Given the description of an element on the screen output the (x, y) to click on. 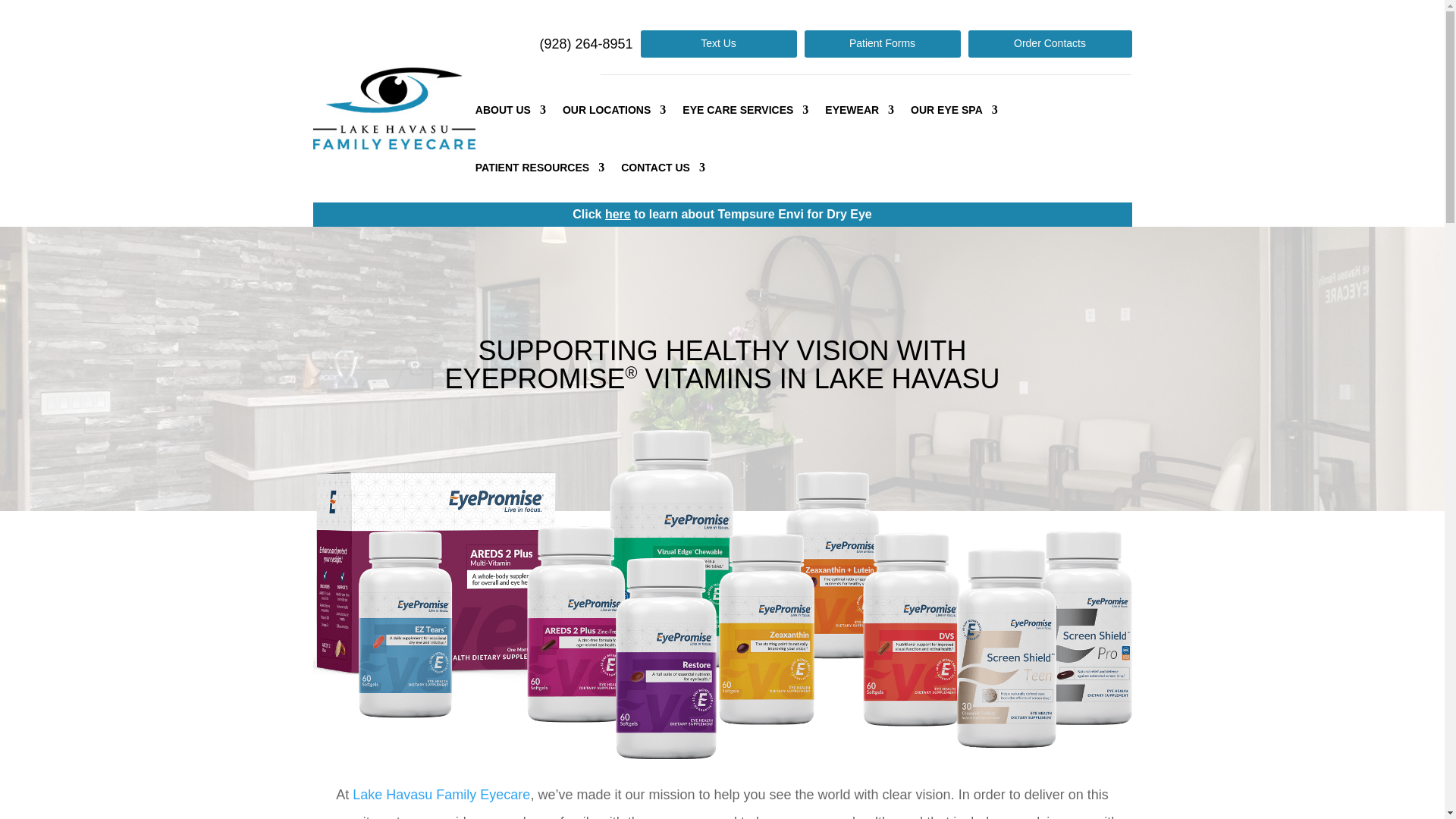
OUR LOCATIONS (613, 109)
ABOUT US (511, 109)
Order Contacts (1049, 43)
EYE CARE SERVICES (745, 109)
PATIENT RESOURCES (540, 167)
Text Us (718, 43)
EYEWEAR (859, 109)
OUR EYE SPA (954, 109)
Patient Forms (881, 43)
